Given the description of an element on the screen output the (x, y) to click on. 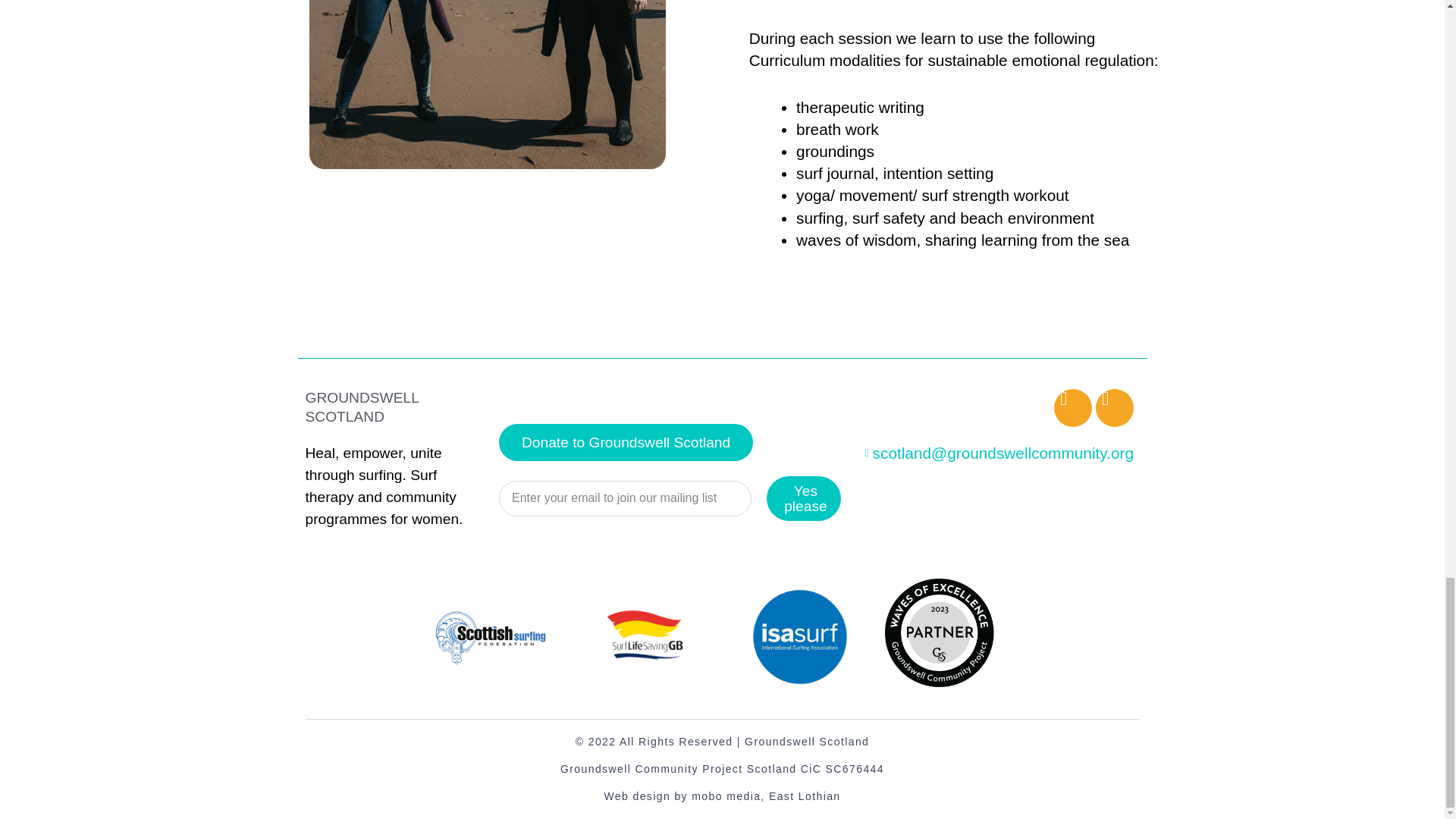
GROUNDSWELL SCOTLAND (361, 407)
Donate to Groundswell Scotland (625, 442)
Instagram (1115, 407)
Yes please (804, 497)
Facebook (1073, 407)
